Given the description of an element on the screen output the (x, y) to click on. 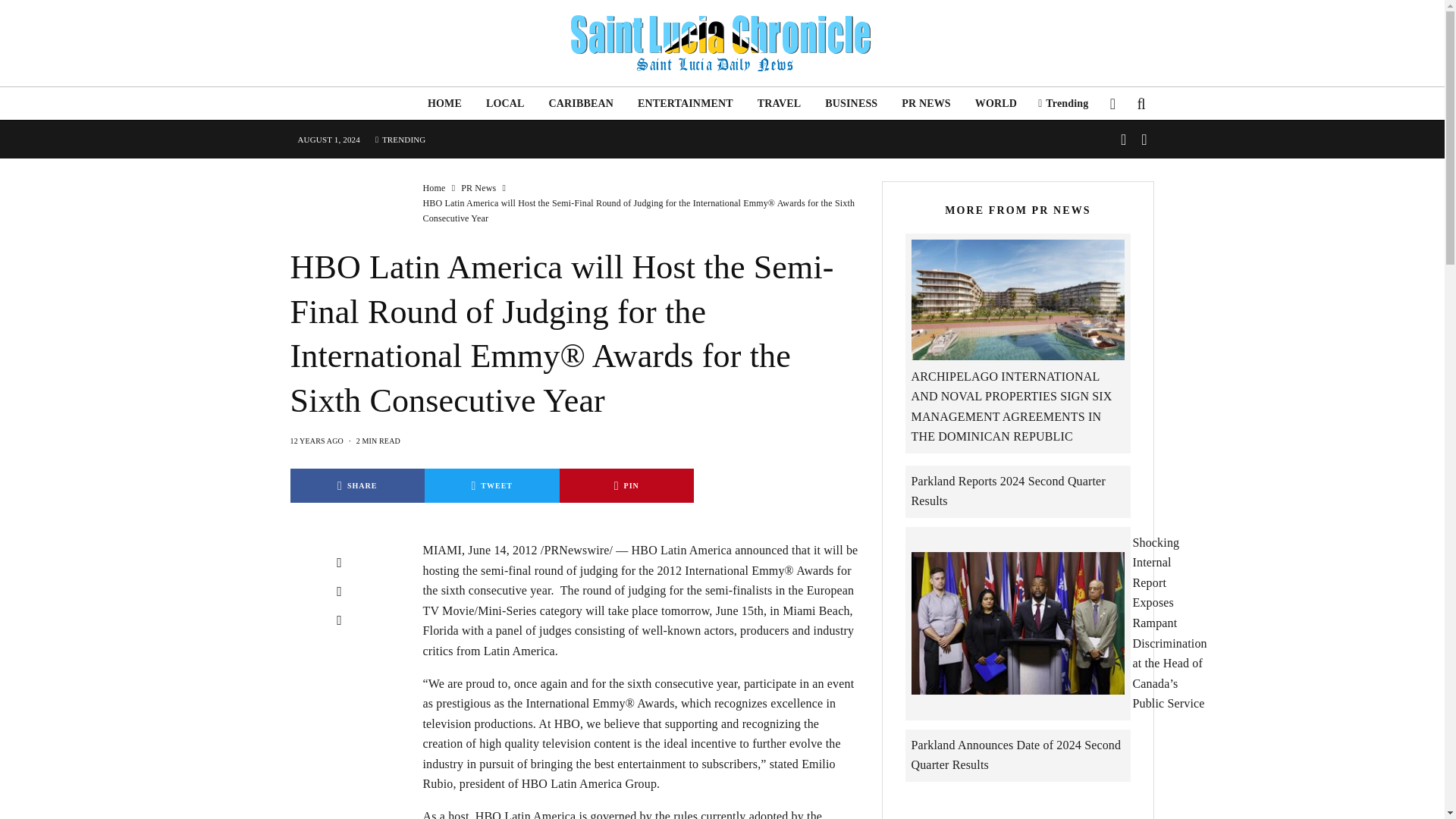
LOCAL (505, 102)
CARIBBEAN (581, 102)
TRAVEL (779, 102)
ENTERTAINMENT (685, 102)
HOME (444, 102)
